Given the description of an element on the screen output the (x, y) to click on. 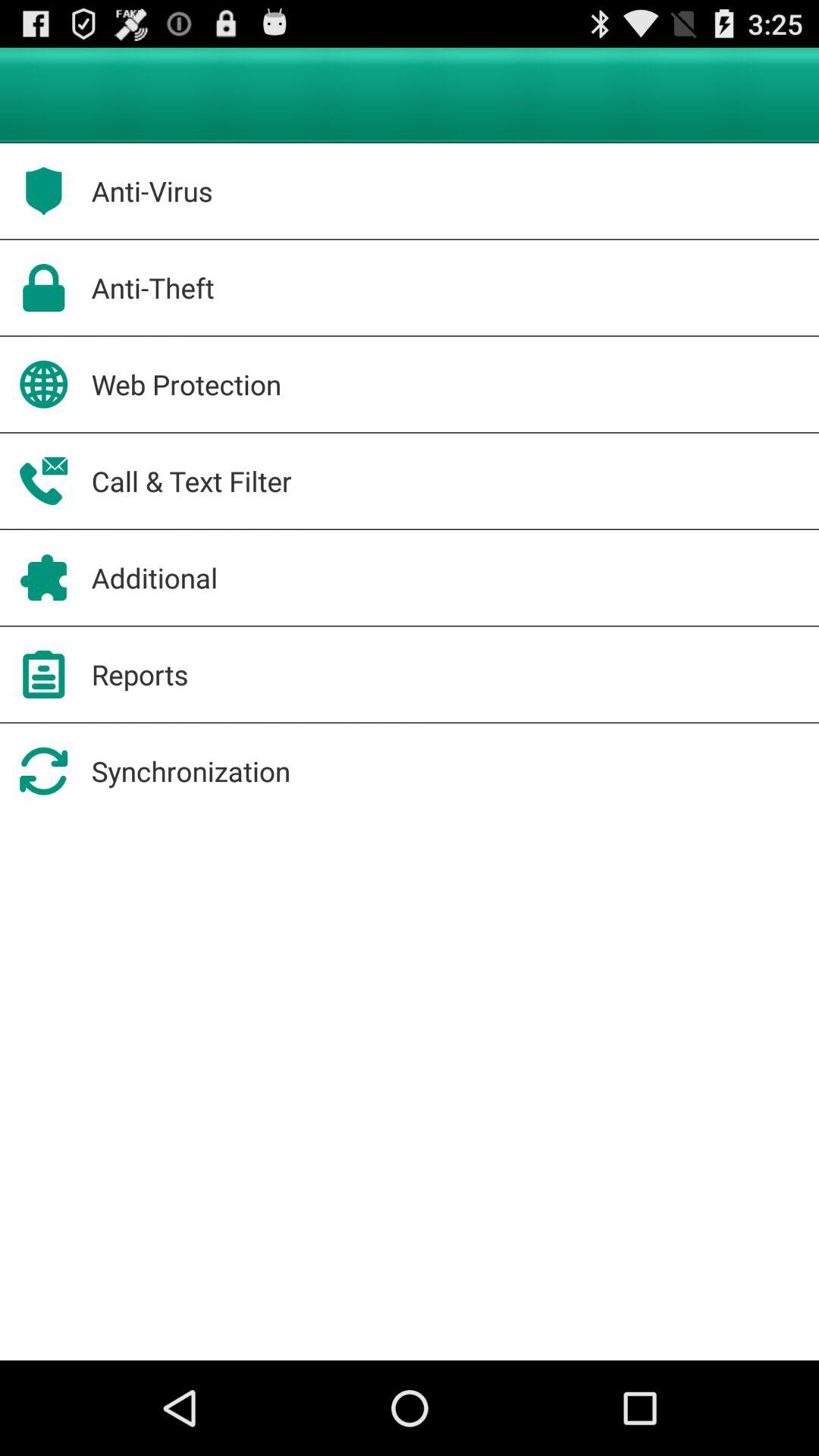
swipe to the anti-theft icon (152, 287)
